Given the description of an element on the screen output the (x, y) to click on. 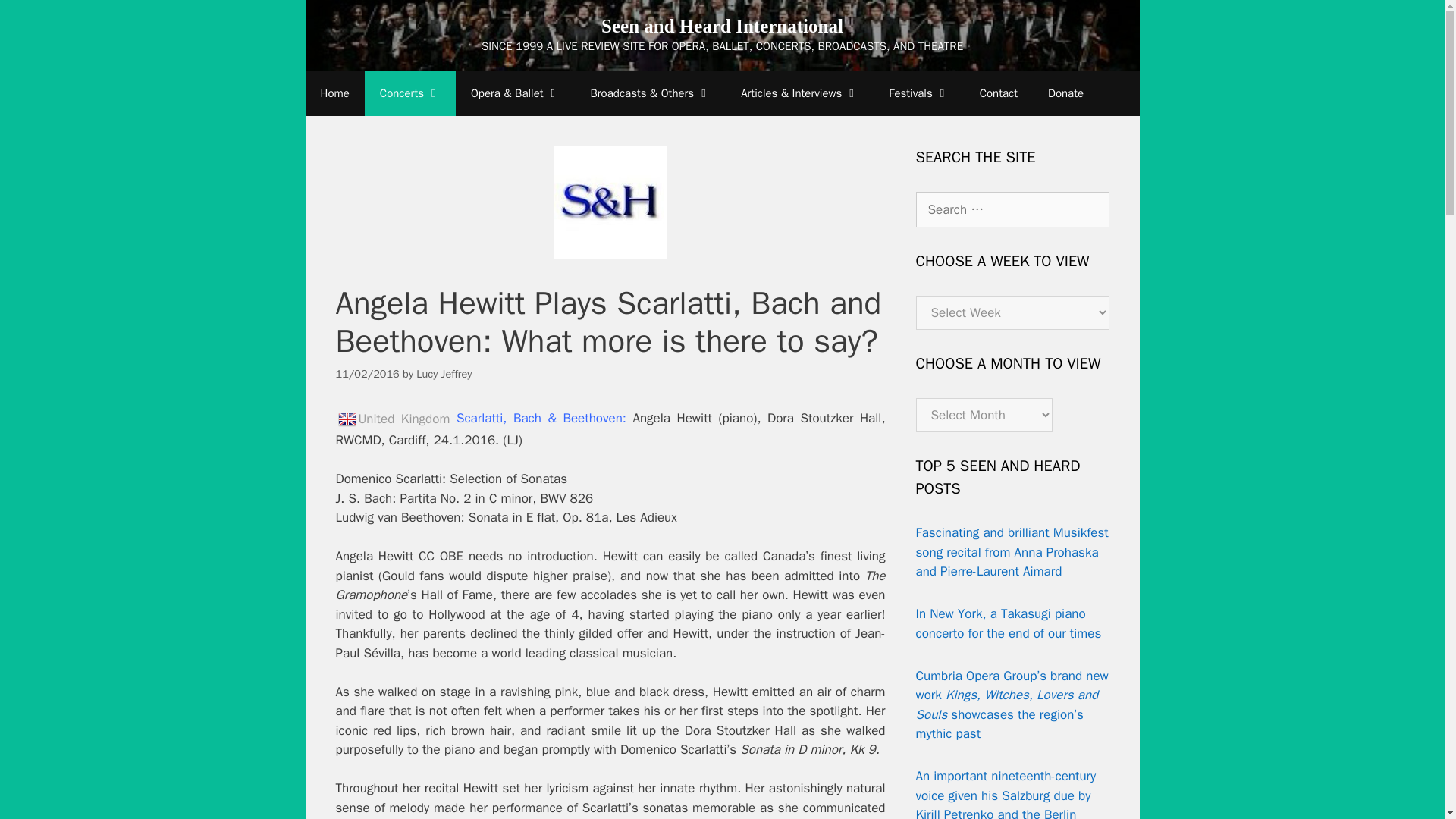
Season Previews (799, 92)
Seen and Heard International (722, 25)
Search for: (1012, 208)
View all posts by Lucy Jeffrey (443, 373)
United Kingdom (346, 418)
